Given the description of an element on the screen output the (x, y) to click on. 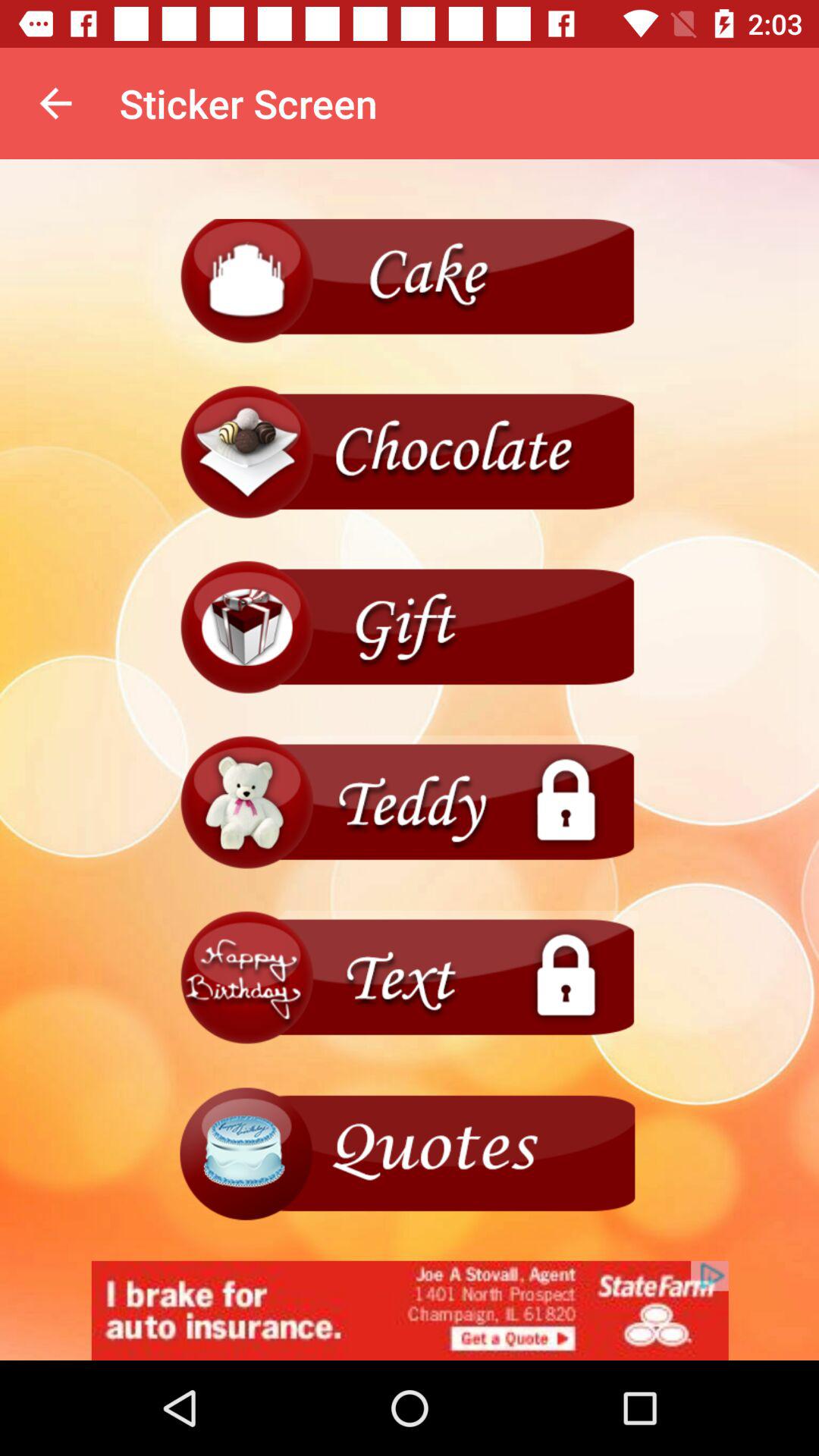
see stickers in chocolate category (409, 452)
